Given the description of an element on the screen output the (x, y) to click on. 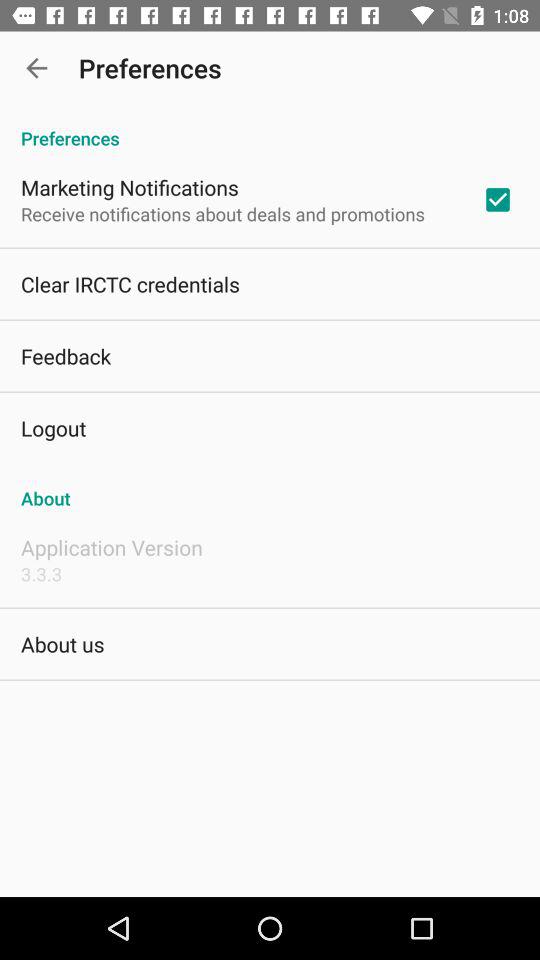
click item above the 3.3.3 item (111, 547)
